Given the description of an element on the screen output the (x, y) to click on. 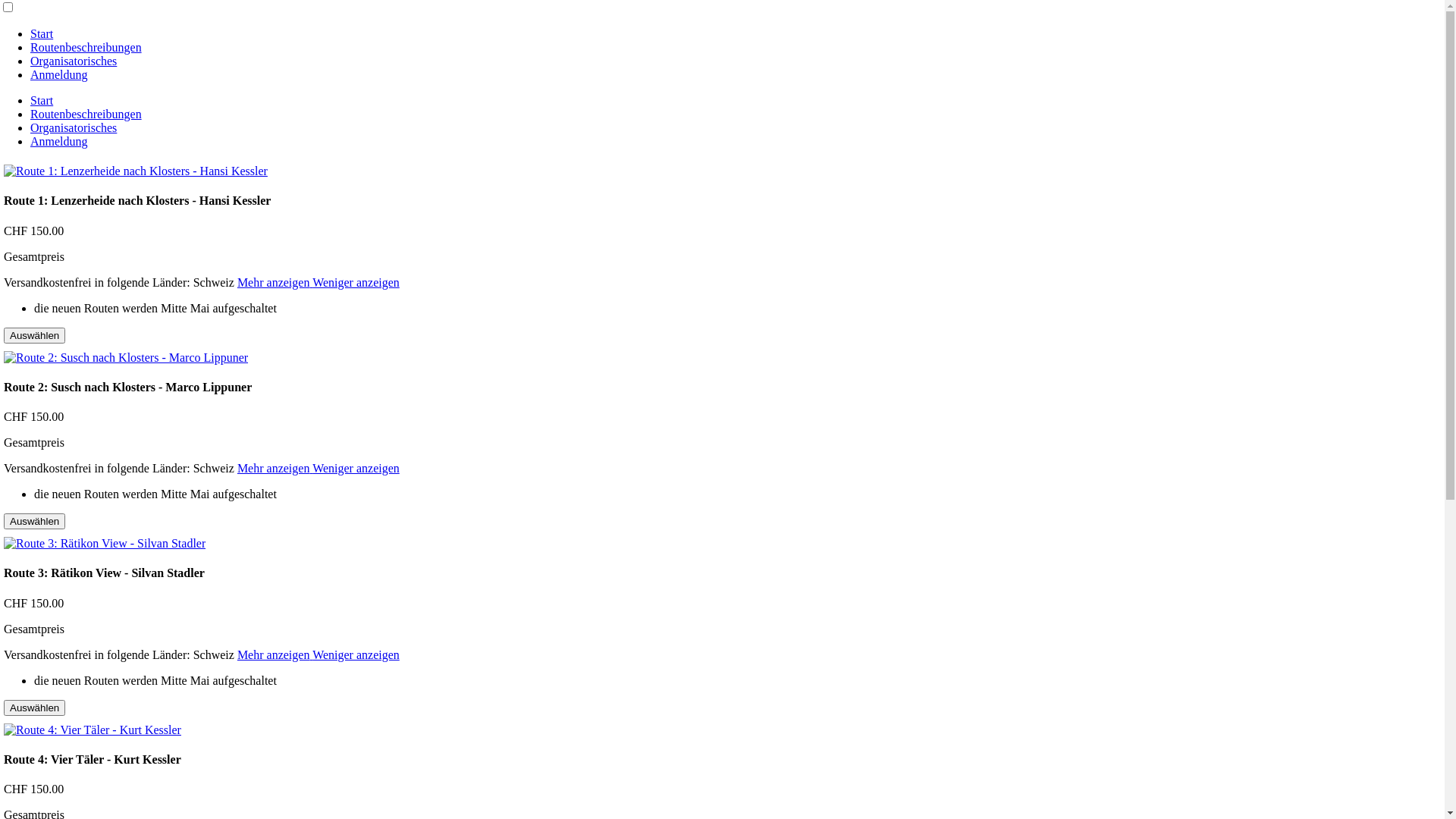
Anmeldung Element type: text (58, 140)
Organisatorisches Element type: text (73, 60)
Mehr anzeigen Weniger anzeigen Element type: text (318, 654)
Start Element type: text (41, 33)
Anmeldung Element type: text (58, 74)
Organisatorisches Element type: text (73, 127)
Mehr anzeigen Weniger anzeigen Element type: text (318, 467)
Routenbeschreibungen Element type: text (85, 113)
Routenbeschreibungen Element type: text (85, 46)
Start Element type: text (41, 100)
Mehr anzeigen Weniger anzeigen Element type: text (318, 282)
